Given the description of an element on the screen output the (x, y) to click on. 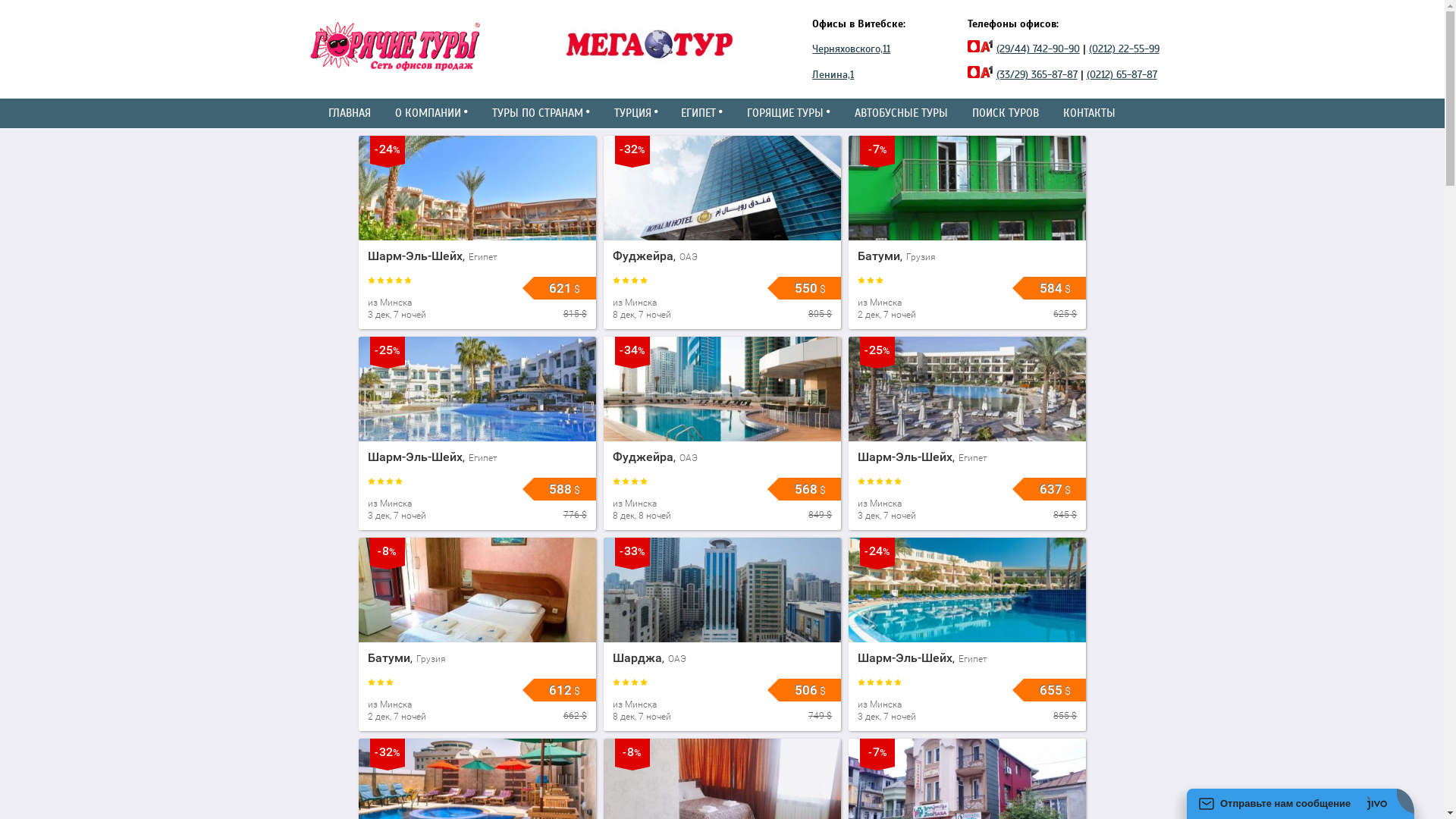
(29/44) 742-90-90 Element type: text (1037, 48)
(0212) 22-55-99 Element type: text (1123, 48)
88.81 Element type: text (4, 4)
(0212) 65-87-87 Element type: text (1121, 74)
(33/29) 365-87-87 Element type: text (1036, 74)
